Given the description of an element on the screen output the (x, y) to click on. 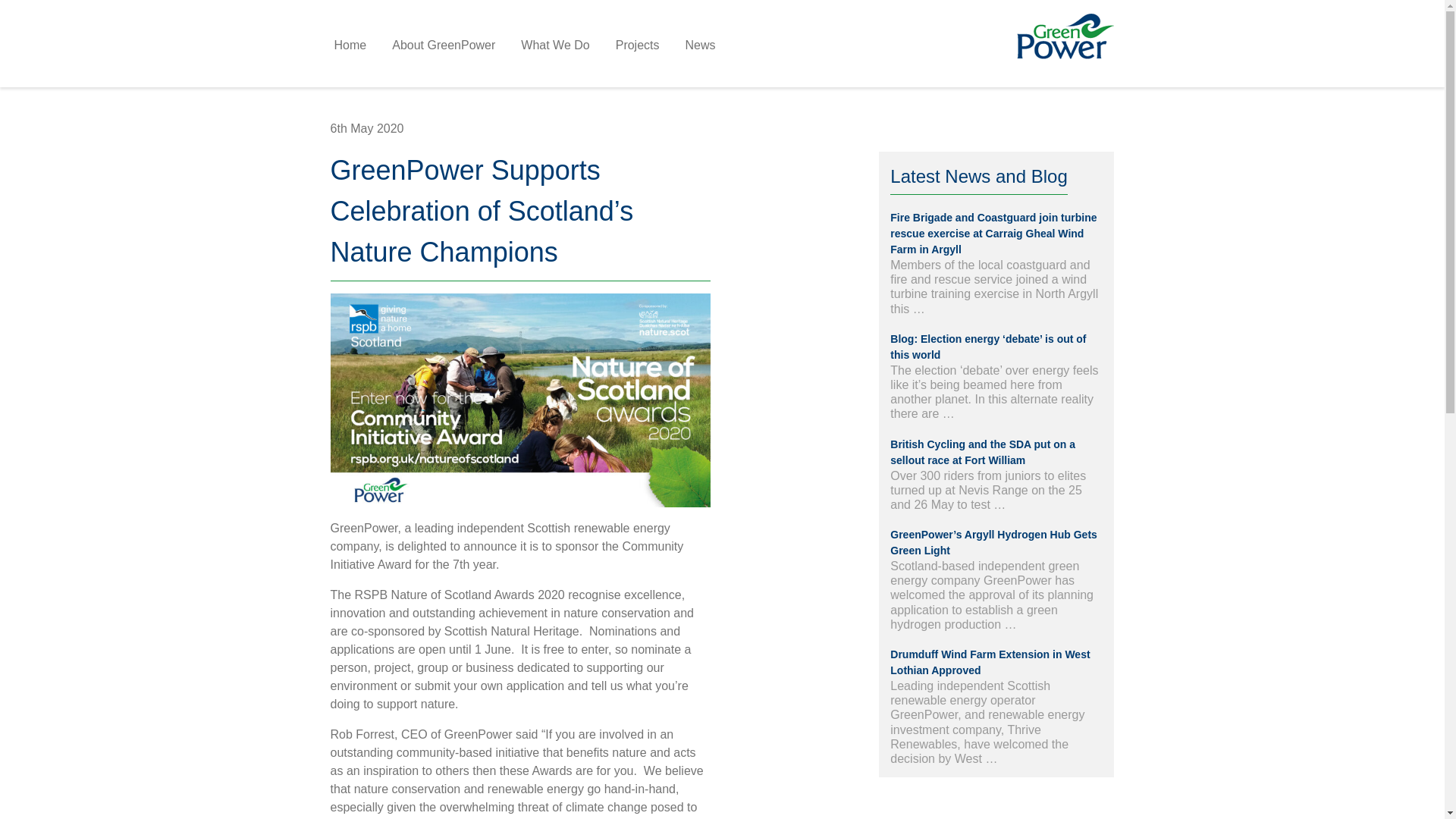
News (700, 45)
Drumduff Wind Farm Extension in West Lothian Approved (989, 662)
Home (350, 45)
About GreenPower (443, 45)
What We Do (554, 45)
Projects (637, 45)
